Given the description of an element on the screen output the (x, y) to click on. 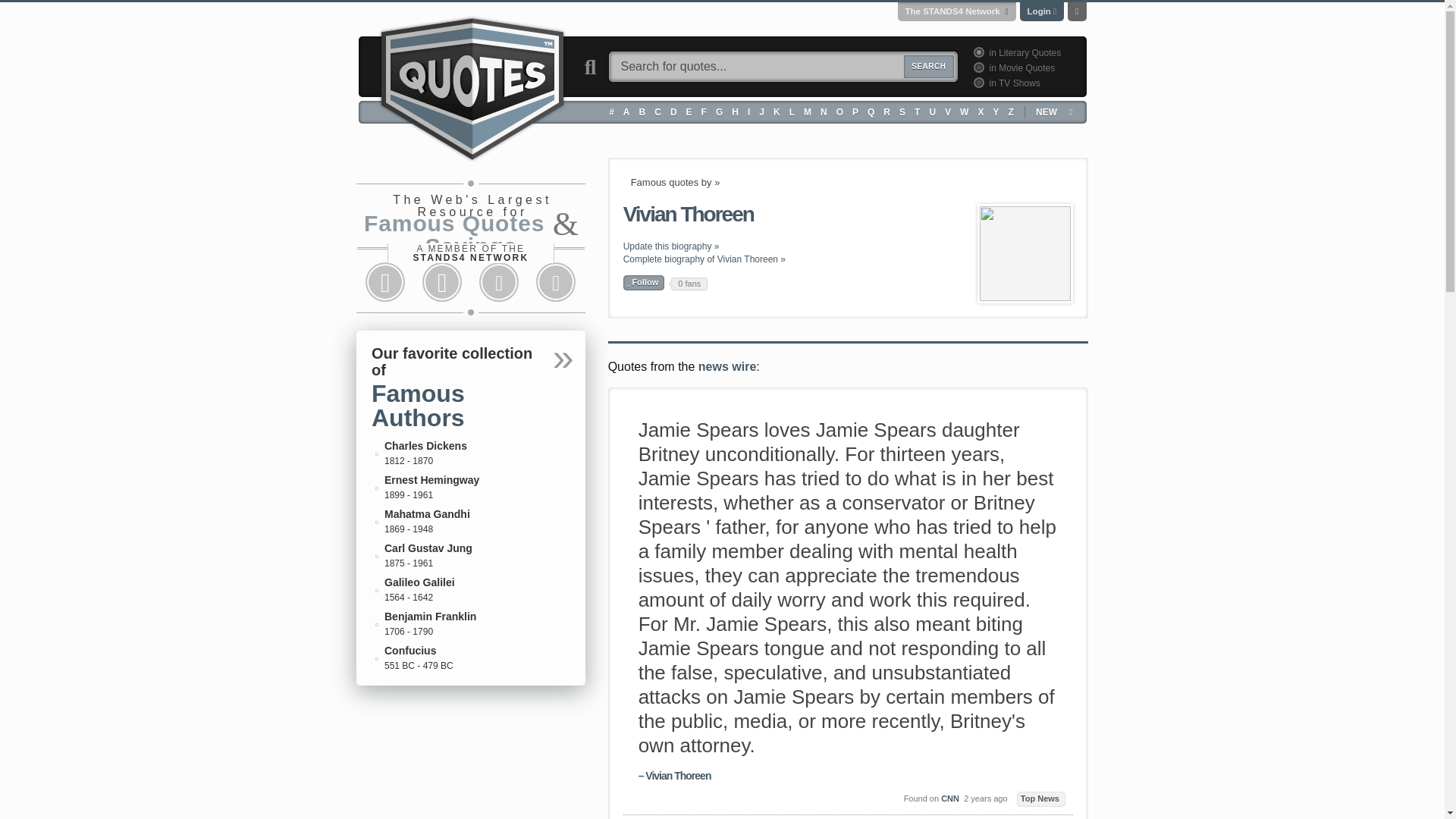
2 (976, 67)
Share this page on Twitter (441, 282)
click to add your vote (644, 282)
Share this page with AddToAny (556, 282)
Share this page on Facebook (384, 282)
SEARCH (928, 66)
Share this page on Reddit (498, 282)
Quotes.net (471, 86)
Vivian Thoreen (1024, 253)
